Given the description of an element on the screen output the (x, y) to click on. 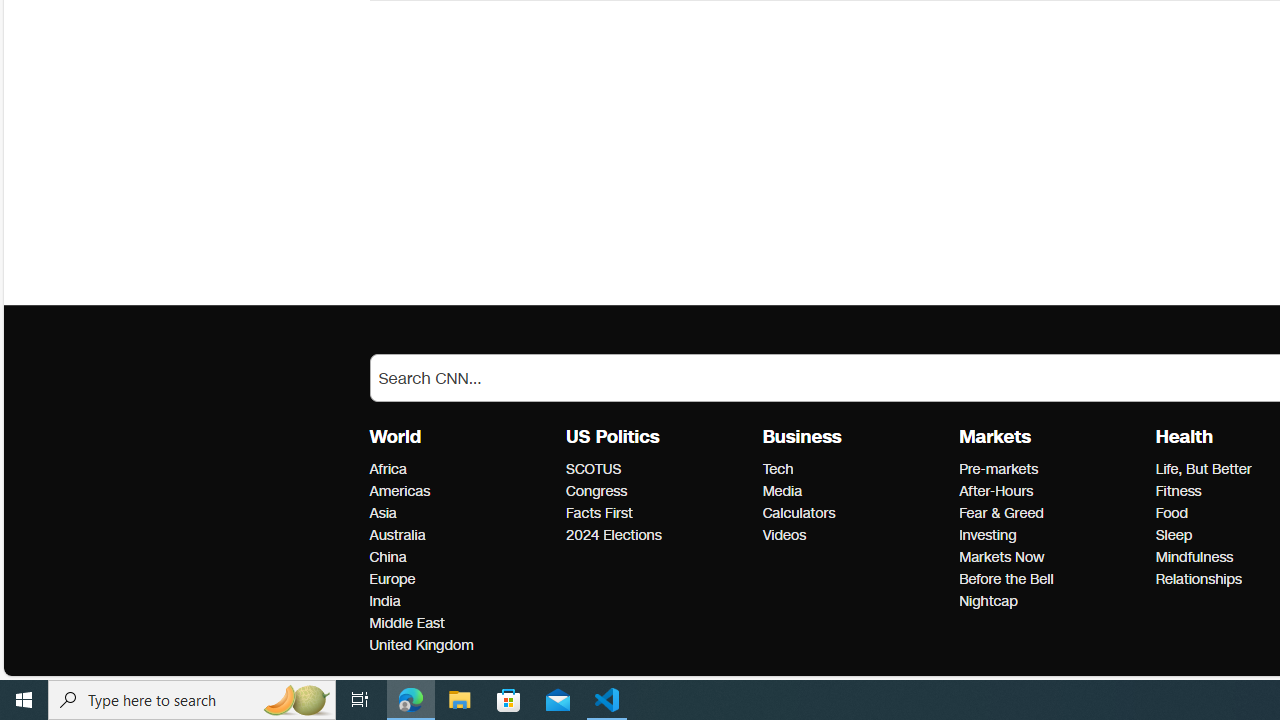
China (461, 557)
US Politics Facts First (599, 512)
Asia (461, 513)
World China (387, 557)
Health Food (1171, 512)
India (461, 602)
Calculators (854, 513)
Pre-markets (1051, 469)
Health Relationships (1198, 579)
After-Hours (1051, 492)
Business Media (781, 491)
Facts First (658, 513)
Americas (461, 492)
2024 Elections (658, 536)
